Given the description of an element on the screen output the (x, y) to click on. 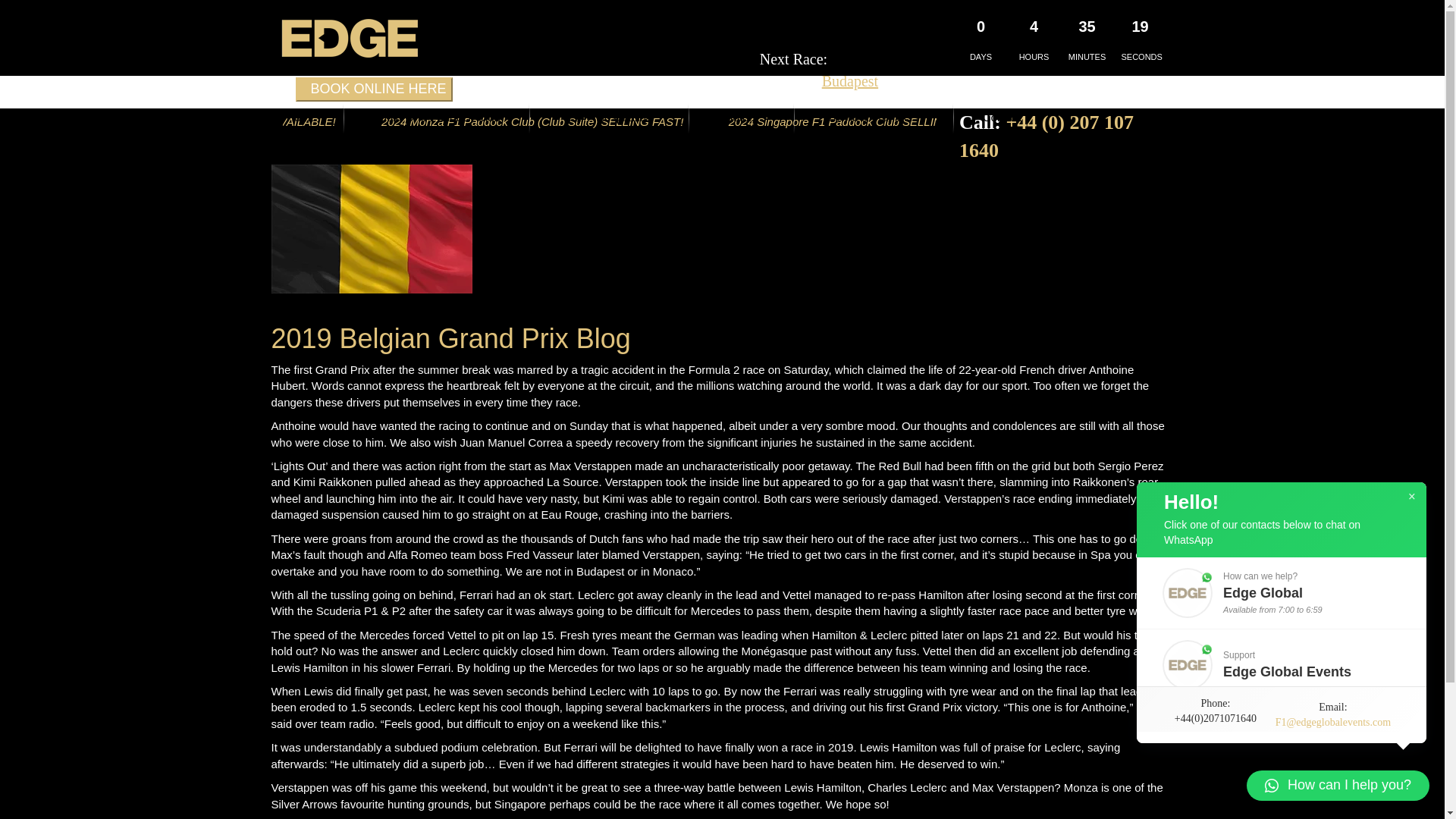
BOOK ONLINE HERE (366, 88)
Home (306, 117)
Budapest (849, 80)
BOOK ONLINE HERE (373, 88)
